Given the description of an element on the screen output the (x, y) to click on. 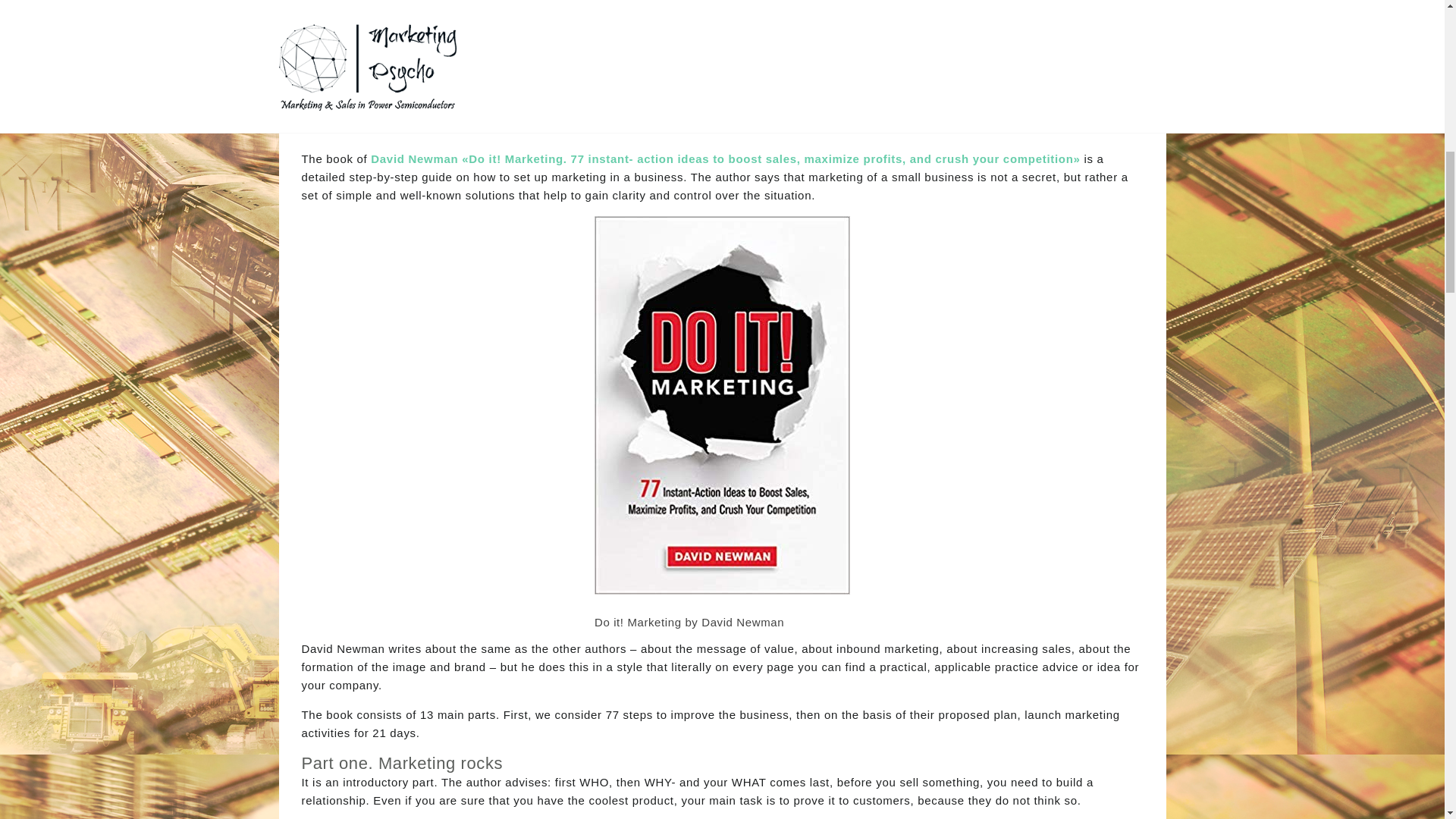
MARKETING BOOKS (722, 22)
Posts by Alexey Cherkasov (641, 115)
Alexey Cherkasov (641, 115)
David Newman (414, 158)
